Given the description of an element on the screen output the (x, y) to click on. 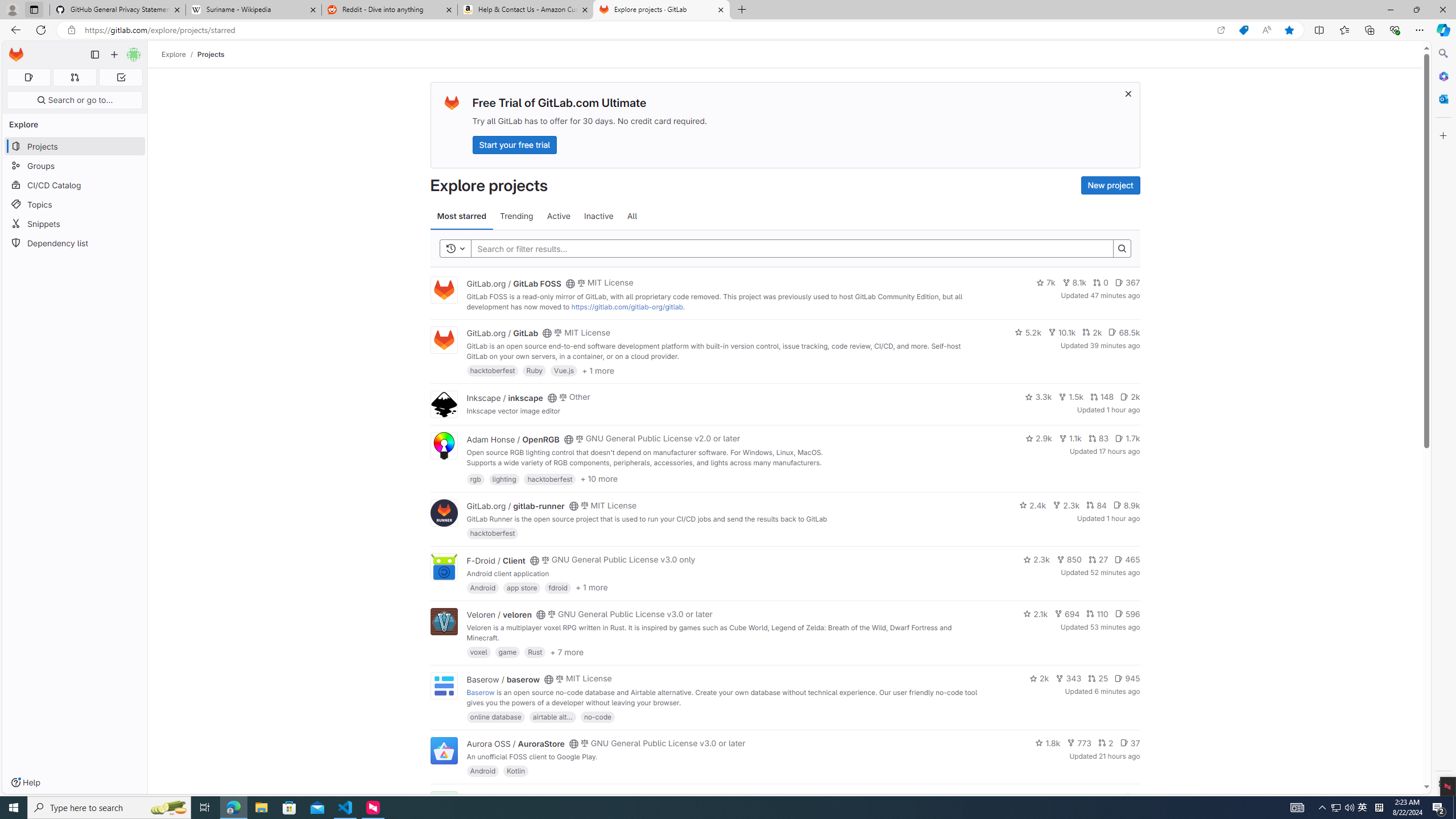
F-Droid / Client (495, 560)
Dependency list (74, 242)
Inactive (598, 216)
+ 10 more (599, 478)
1.1k (1069, 438)
https://gitlab.com/gitlab-org/gitlab (626, 306)
game (507, 651)
10.1k (1061, 331)
1.5k (1070, 396)
fdroid (558, 587)
Dismiss trial promotion (1128, 93)
